Given the description of an element on the screen output the (x, y) to click on. 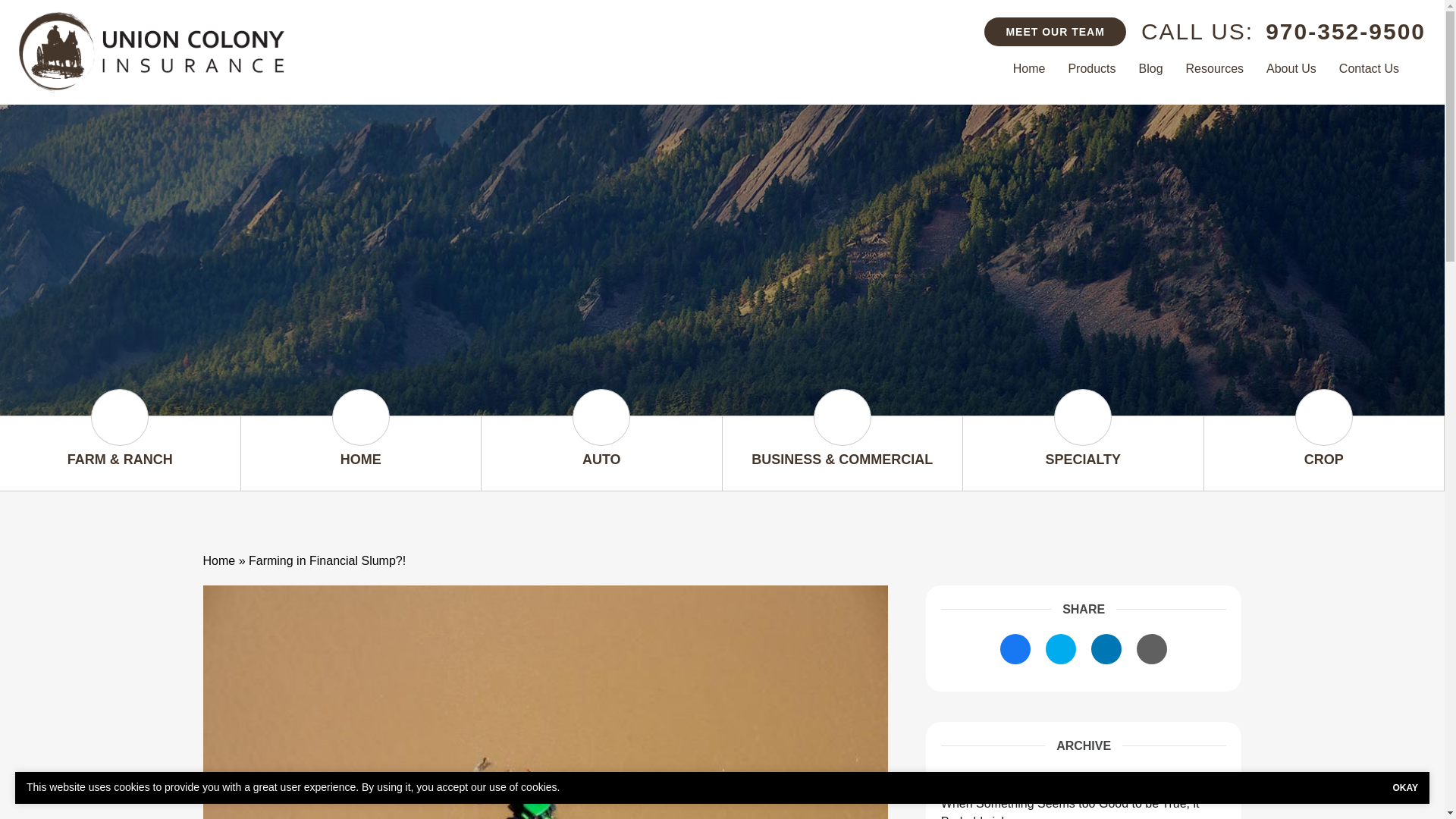
970-352-9500 (1345, 31)
Home (1029, 68)
MEET OUR TEAM (1054, 31)
Products (1091, 68)
Blog (1150, 68)
Resources (1214, 68)
About Us (1291, 68)
